Given the description of an element on the screen output the (x, y) to click on. 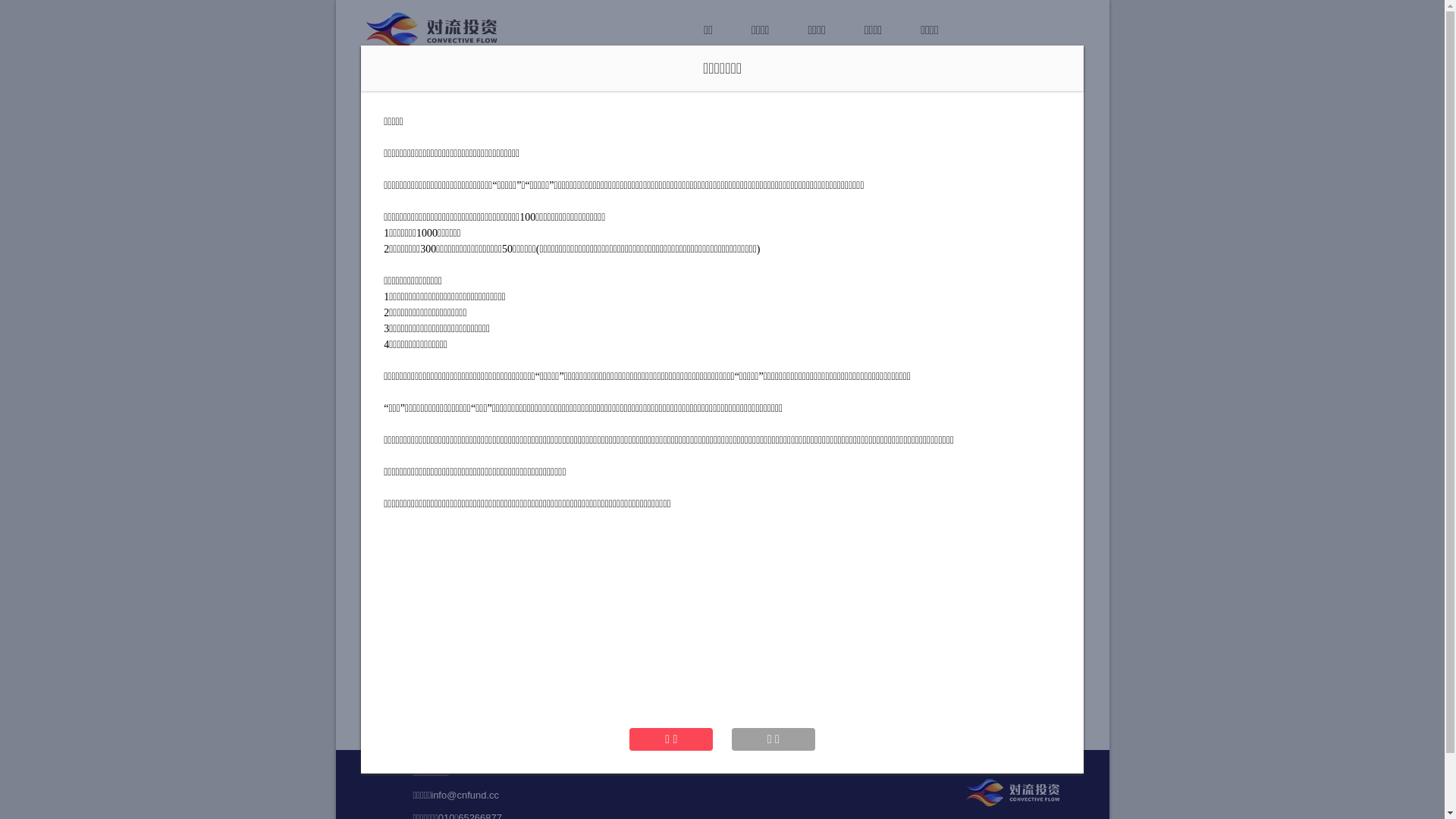
MORE Element type: text (479, 676)
MORE Element type: text (722, 676)
